Given the description of an element on the screen output the (x, y) to click on. 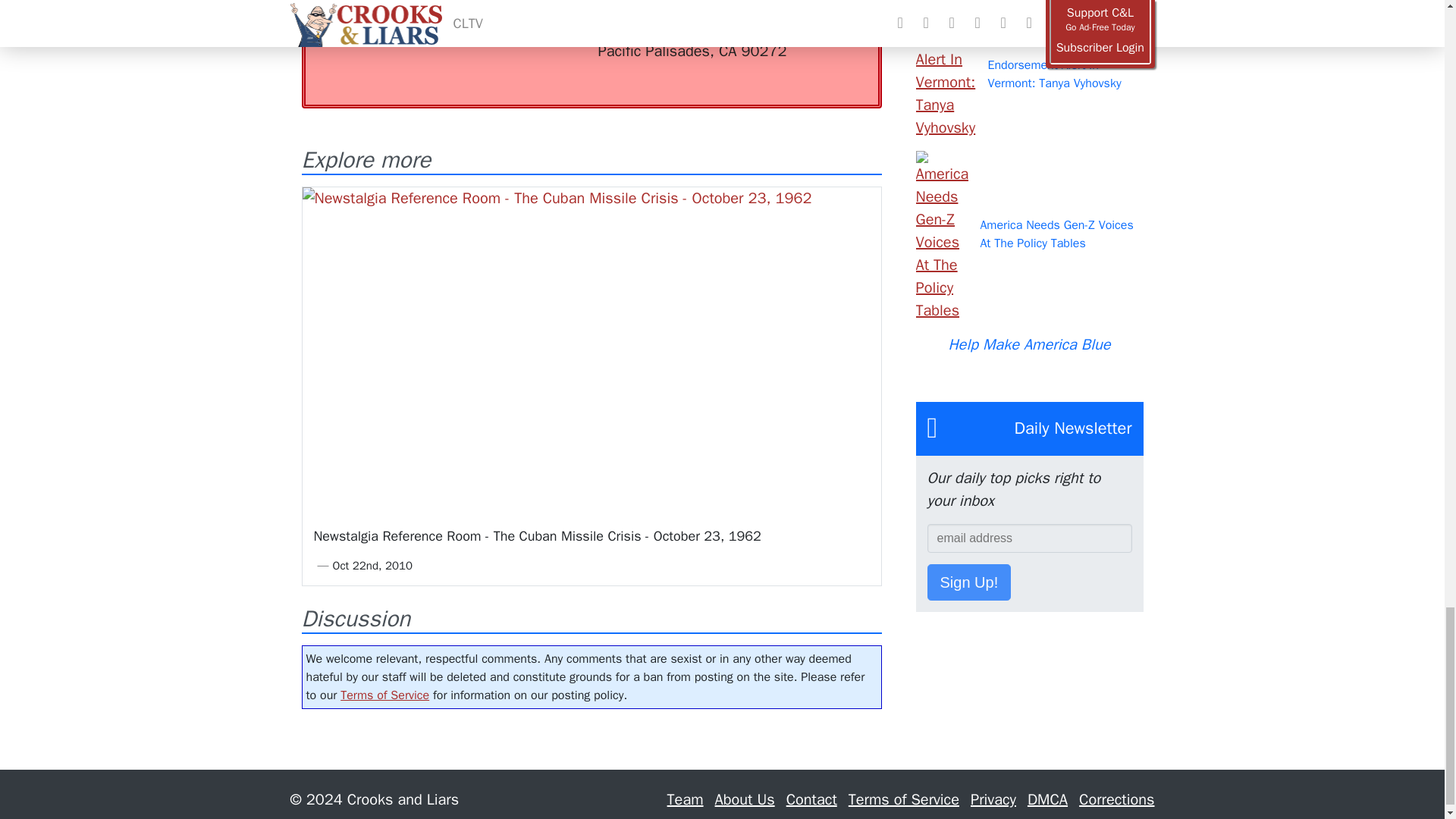
Donate via Kindest (438, 13)
Donate via PayPal (540, 2)
